Given the description of an element on the screen output the (x, y) to click on. 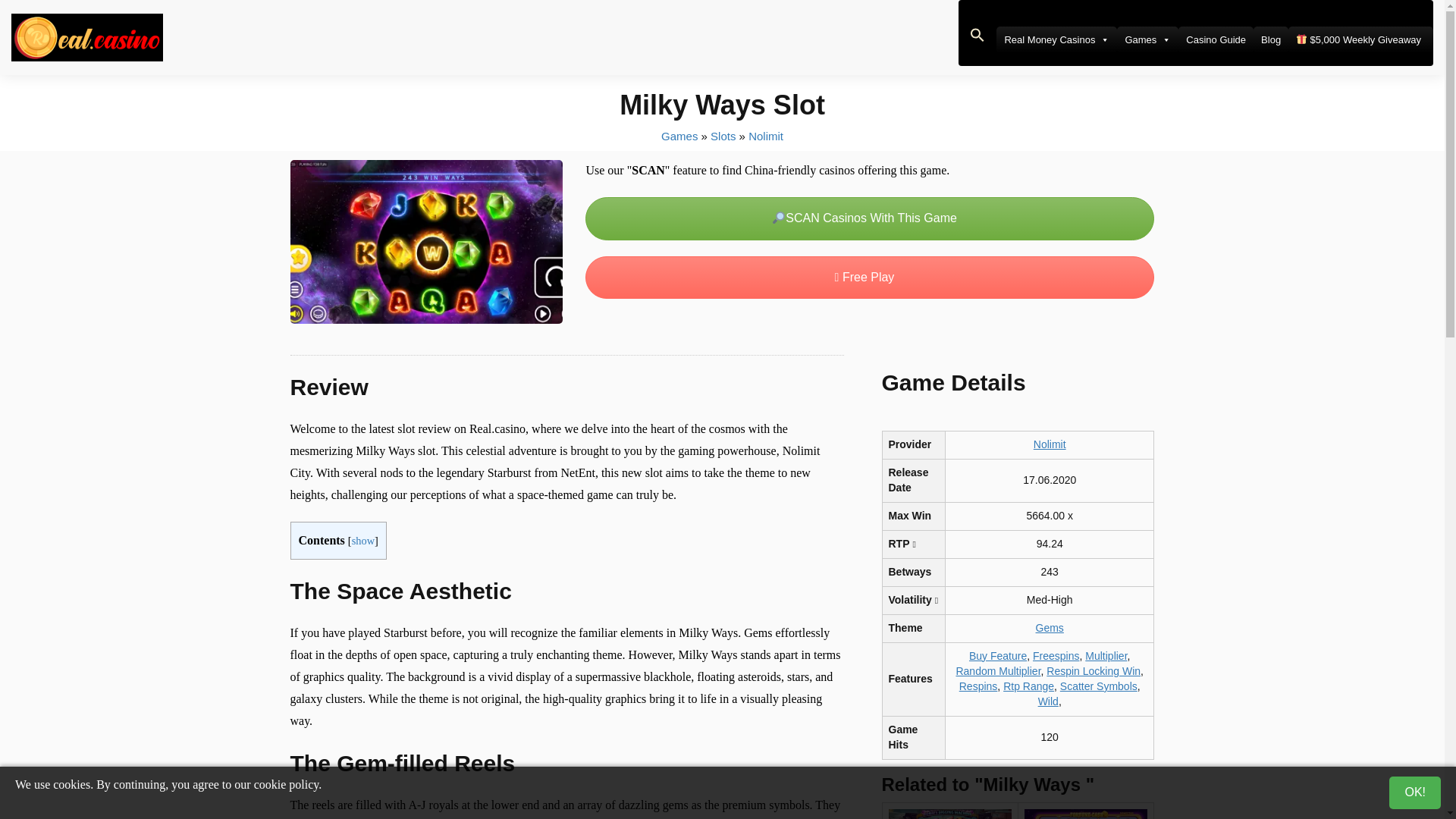
Games (1146, 39)
Real Money Casinos (1055, 39)
Online Casino Games (679, 135)
Nolimit Slots (765, 135)
Online Slots (722, 135)
